Given the description of an element on the screen output the (x, y) to click on. 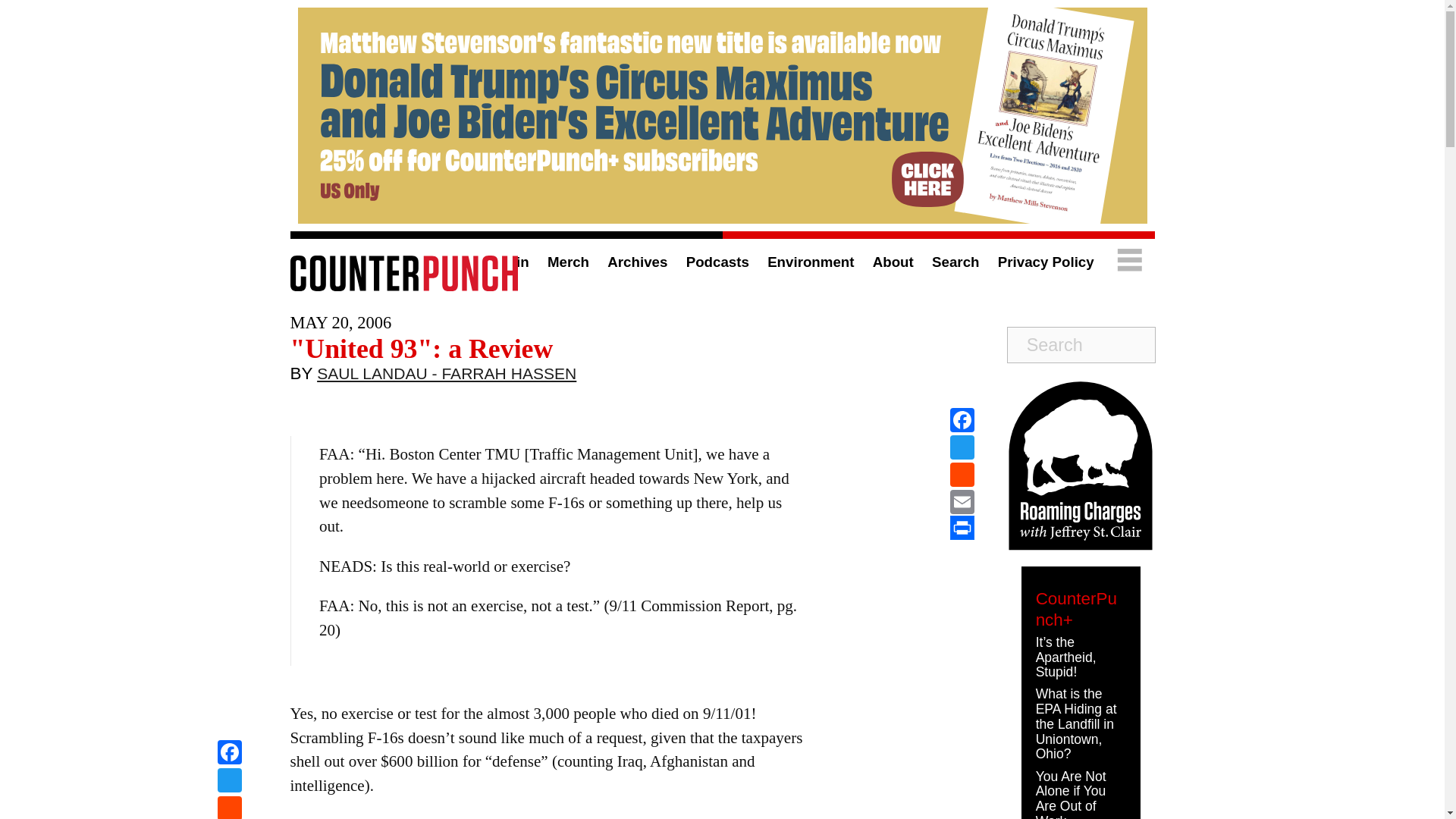
You Are Not Alone if You Are Out of Work (1070, 794)
Login (509, 261)
Podcasts (717, 261)
Reddit (962, 474)
"United 93": a Review (421, 348)
Facebook (229, 754)
Search (954, 261)
Facebook (962, 420)
2006-05-20 (340, 322)
Facebook (229, 754)
Reddit (229, 807)
Twitter (229, 782)
Environment (810, 261)
Archives (636, 261)
Twitter (962, 447)
